Given the description of an element on the screen output the (x, y) to click on. 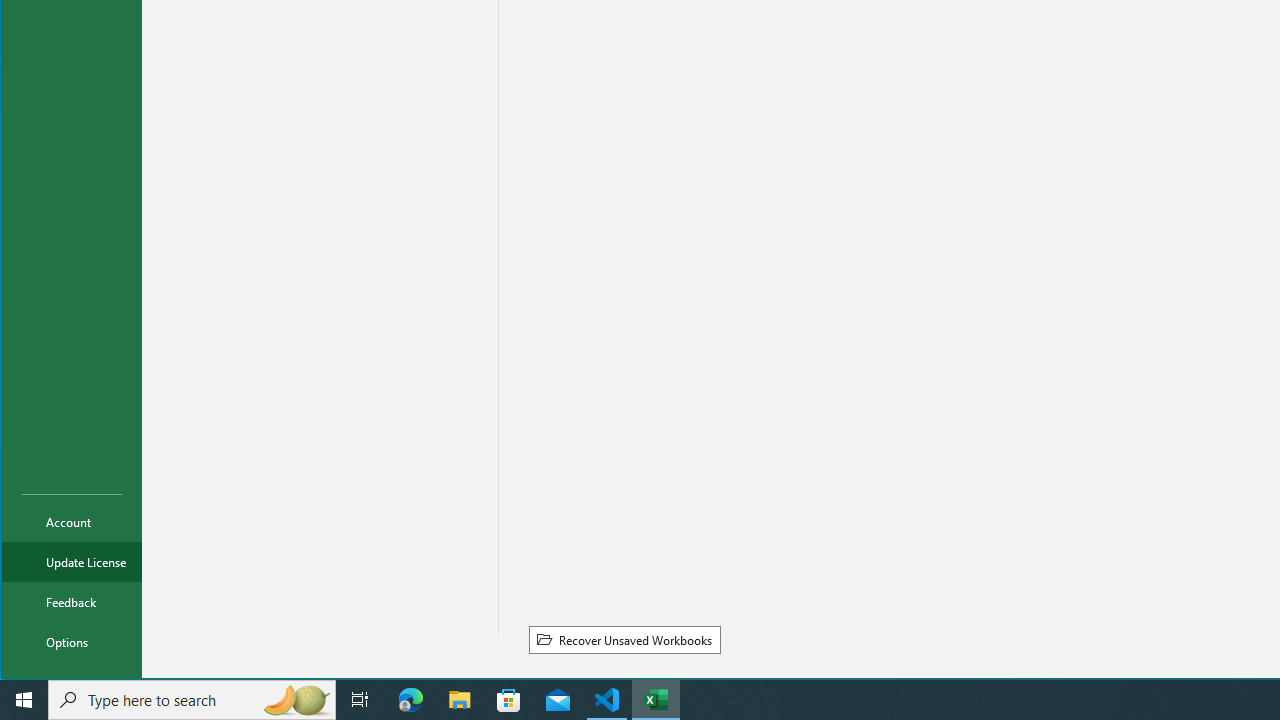
Microsoft Edge (411, 699)
Microsoft Store (509, 699)
File Explorer (460, 699)
Start (24, 699)
Visual Studio Code - 1 running window (607, 699)
Update License (72, 561)
Excel - 1 running window (656, 699)
Recover Unsaved Workbooks (624, 639)
Feedback (72, 601)
Task View (359, 699)
Options (72, 641)
Type here to search (191, 699)
Account (72, 521)
Search highlights icon opens search home window (295, 699)
